Given the description of an element on the screen output the (x, y) to click on. 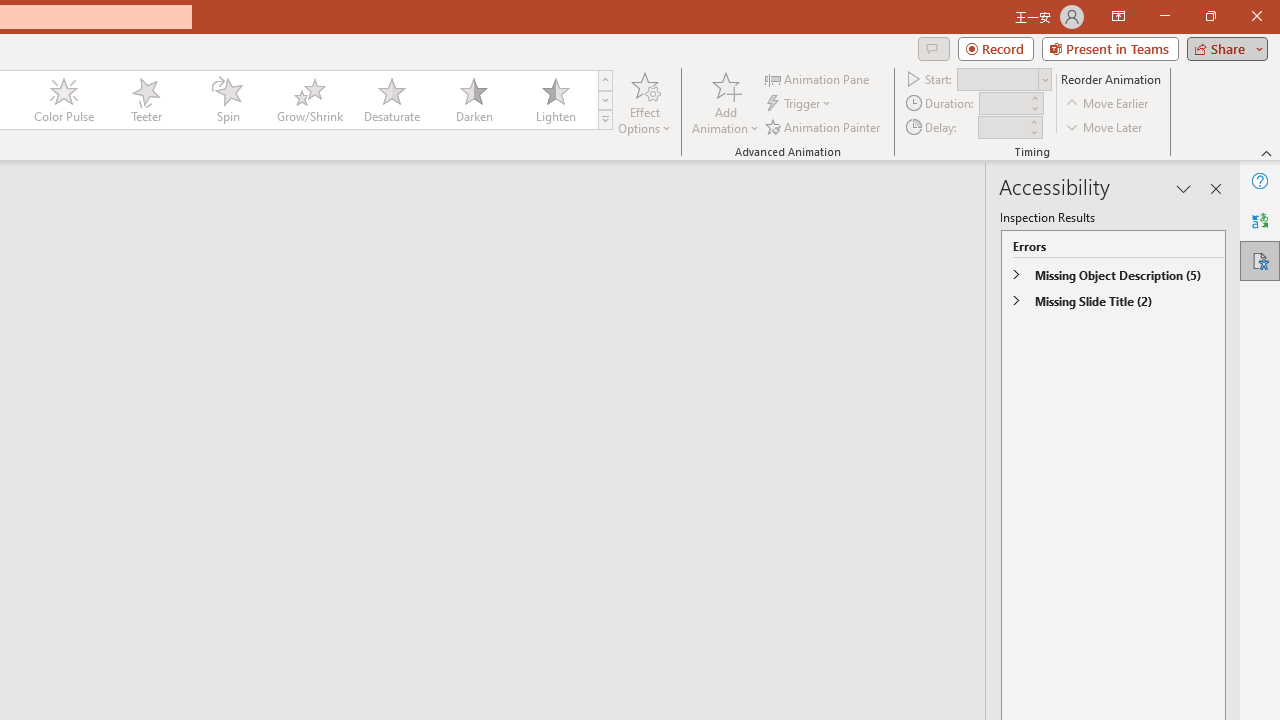
Lighten (555, 100)
Close (1256, 16)
Animation Painter (824, 126)
Task Pane Options (1183, 188)
Close pane (1215, 188)
Color Pulse (63, 100)
Row up (605, 79)
Animation Pane (818, 78)
Translator (1260, 220)
